Given the description of an element on the screen output the (x, y) to click on. 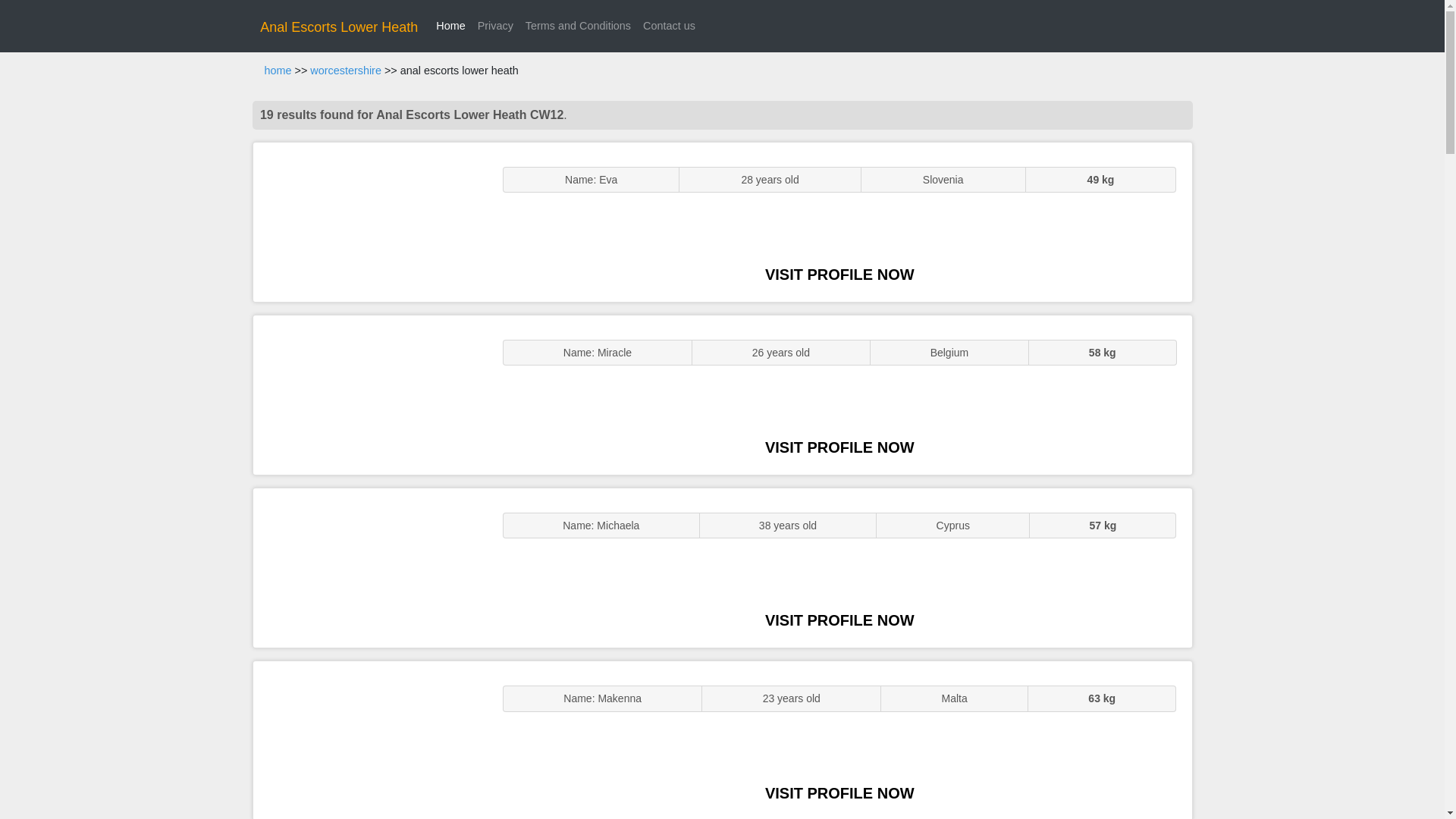
 ENGLISH STUNNER (370, 222)
GFE (370, 395)
Sluts (370, 739)
Anal Escorts Lower Heath (338, 27)
Contact us (669, 25)
Sexy (370, 567)
VISIT PROFILE NOW (839, 619)
Terms and Conditions (578, 25)
VISIT PROFILE NOW (839, 274)
worcestershire (345, 70)
VISIT PROFILE NOW (839, 446)
VISIT PROFILE NOW (839, 792)
home (277, 70)
Privacy (495, 25)
